Given the description of an element on the screen output the (x, y) to click on. 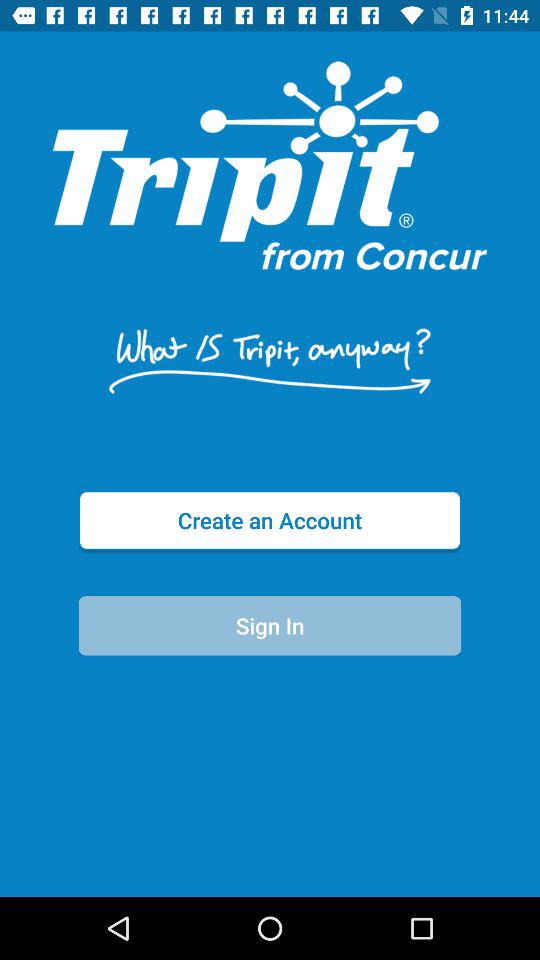
press item above the sign in (269, 520)
